Given the description of an element on the screen output the (x, y) to click on. 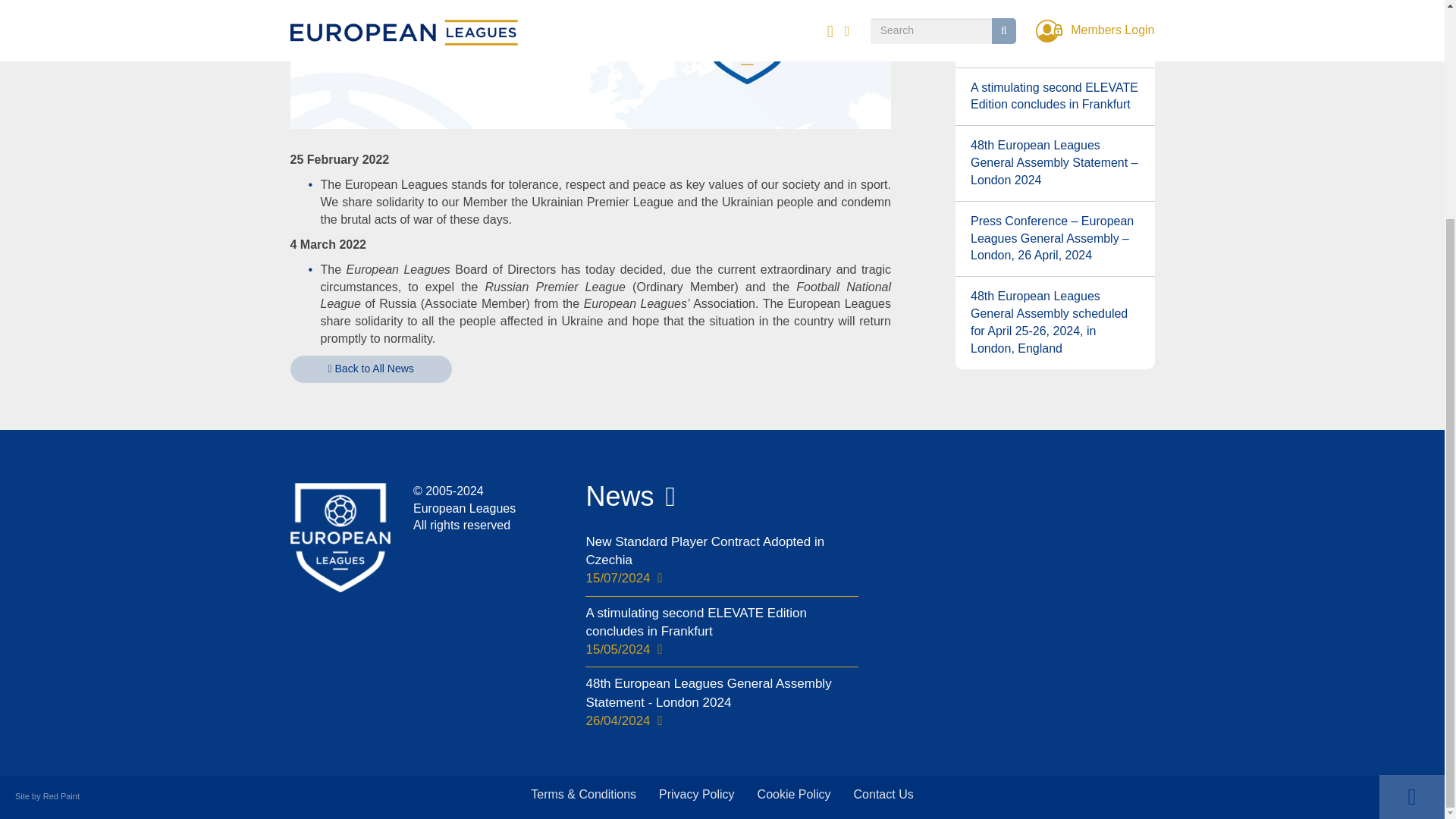
Privacy Policy (696, 794)
New Standard Player Contract Adopted in Czechia (1054, 38)
News (619, 495)
Contact Us (883, 794)
Back to All News (370, 369)
A stimulating second ELEVATE Edition concludes in Frankfurt (1054, 96)
Cookie Policy (794, 794)
Site by Red Paint (47, 795)
